Given the description of an element on the screen output the (x, y) to click on. 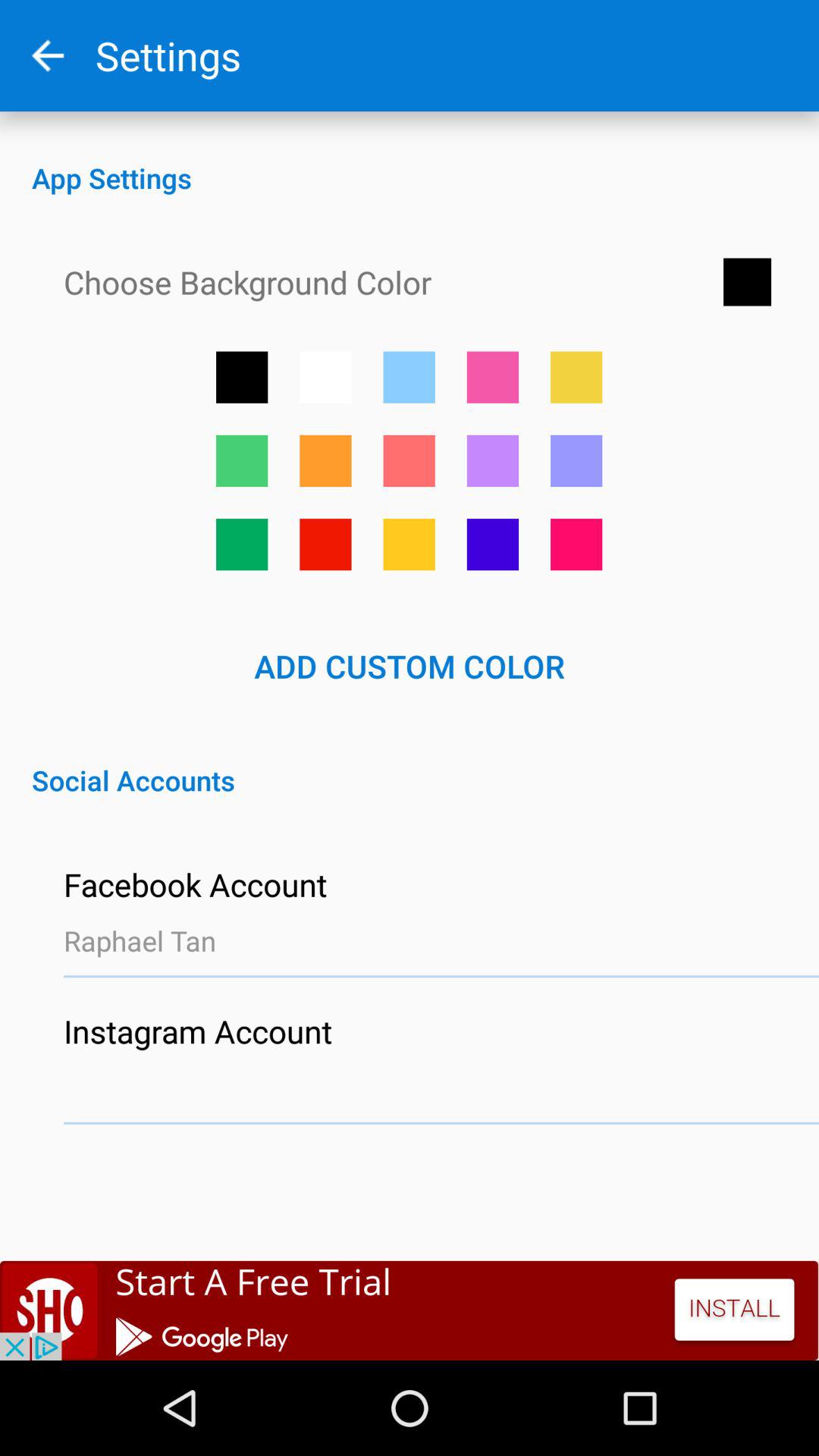
yellow (576, 377)
